Given the description of an element on the screen output the (x, y) to click on. 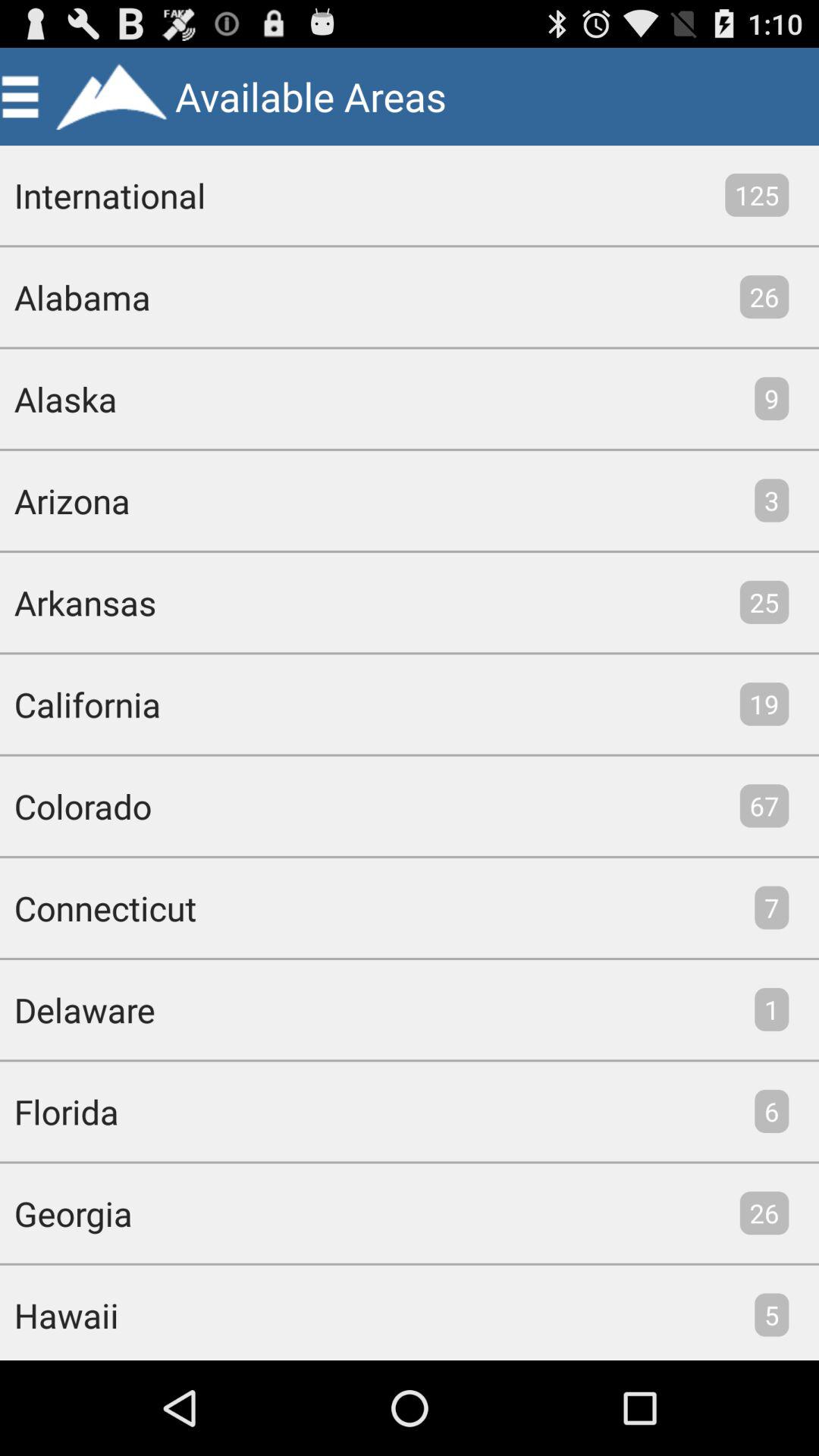
turn off the app next to the colorado icon (763, 805)
